Given the description of an element on the screen output the (x, y) to click on. 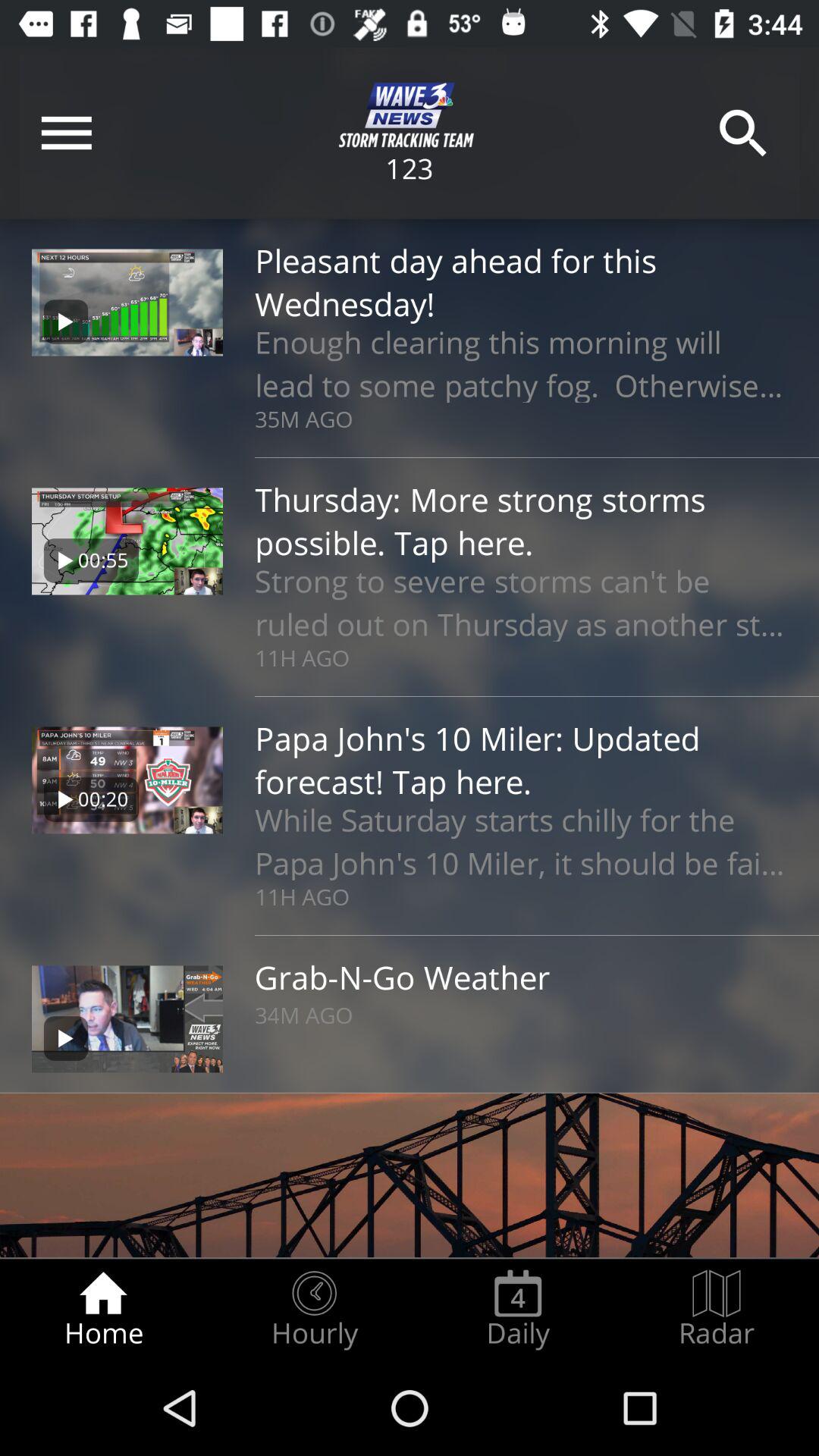
open the icon at the bottom right corner (716, 1309)
